Given the description of an element on the screen output the (x, y) to click on. 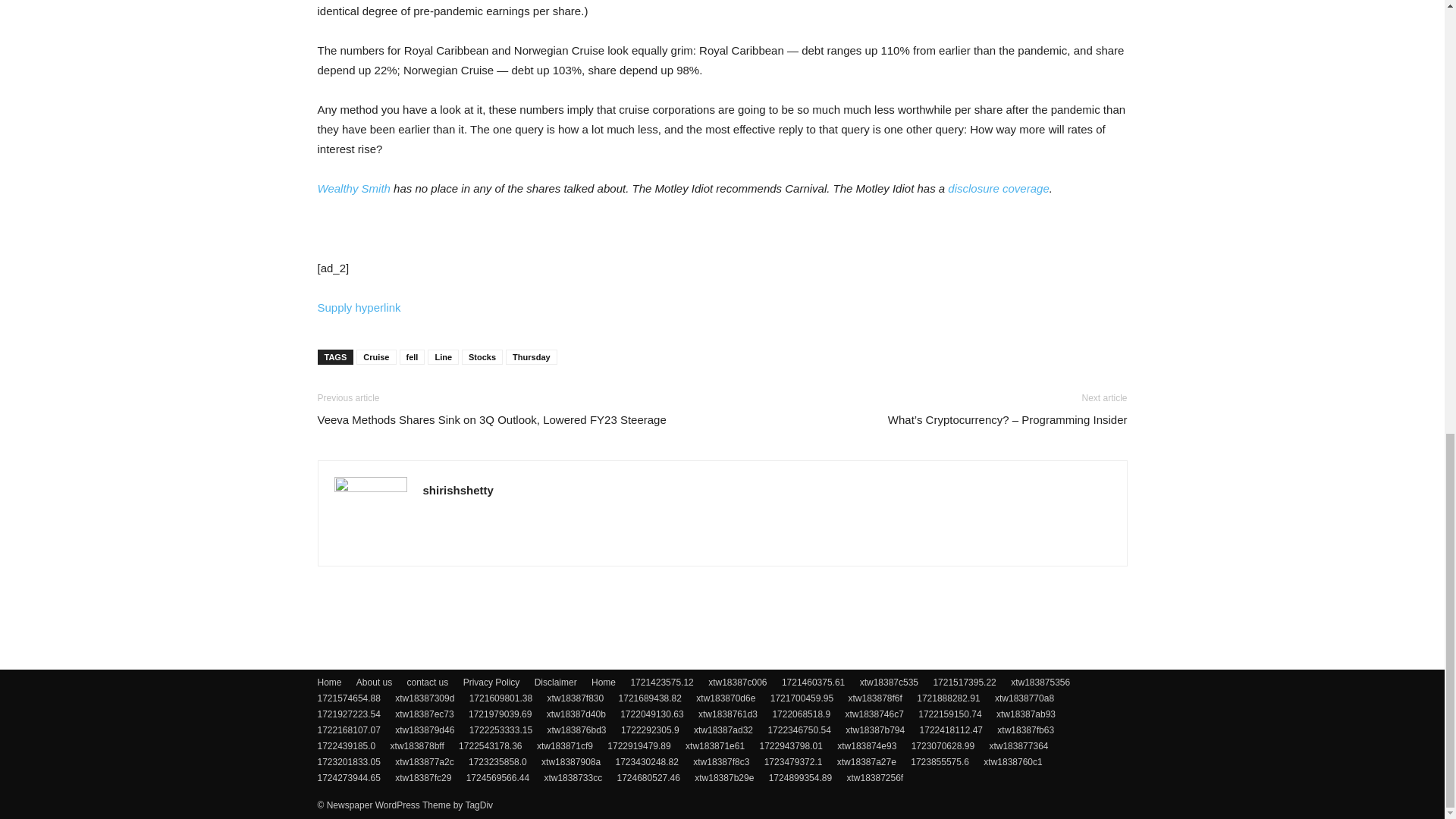
disclosure coverage (997, 187)
Supply hyperlink (358, 307)
Cruise (376, 356)
Thursday (531, 356)
fell (411, 356)
Line (443, 356)
Wealthy Smith (353, 187)
Stocks (481, 356)
